Given the description of an element on the screen output the (x, y) to click on. 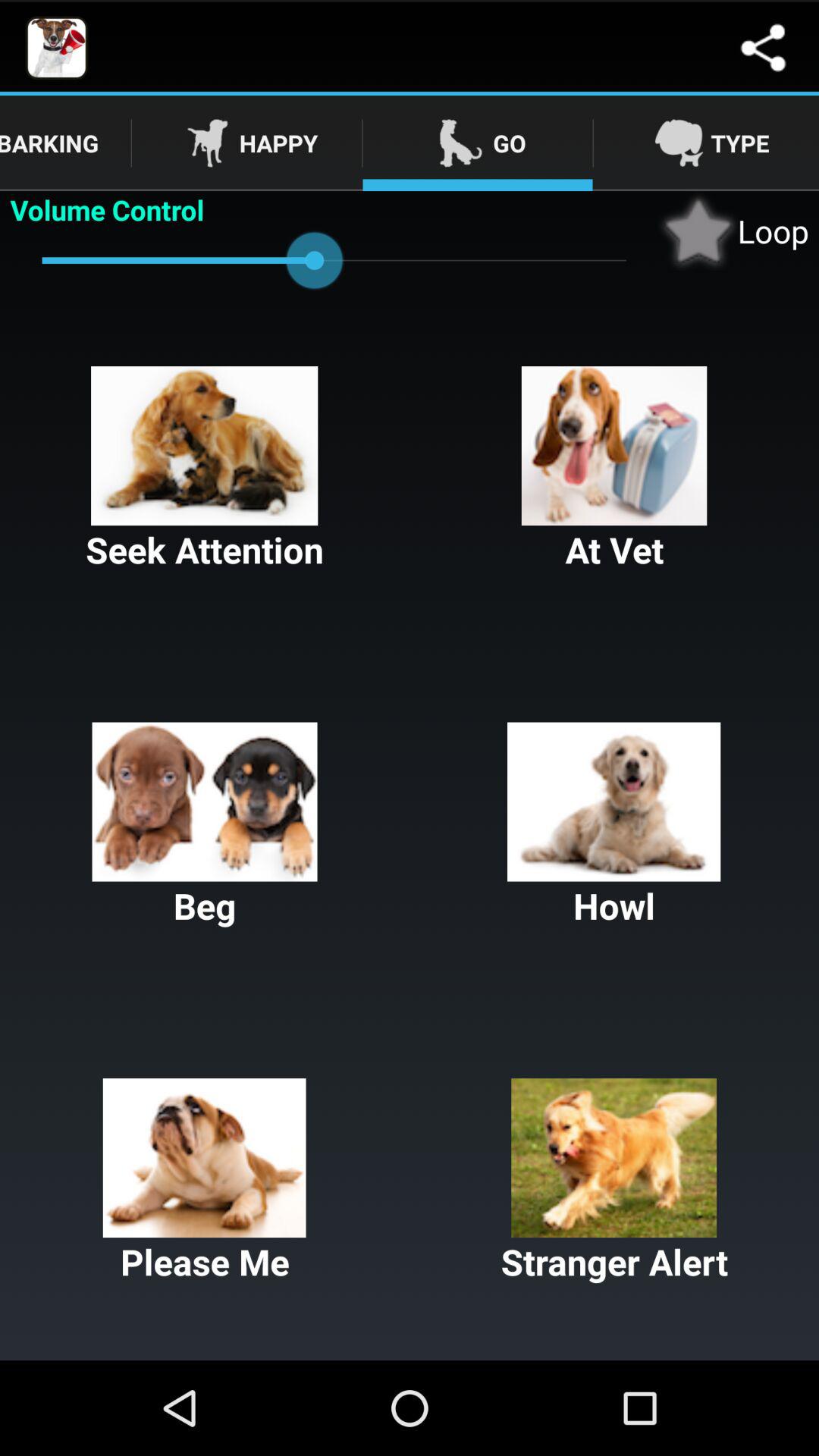
choose item next to howl button (204, 825)
